Given the description of an element on the screen output the (x, y) to click on. 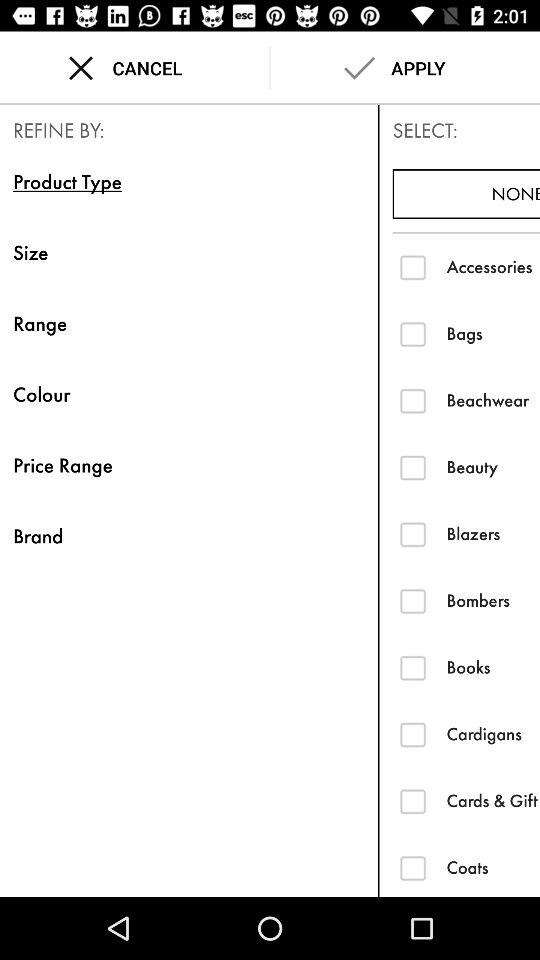
filter search (412, 333)
